Given the description of an element on the screen output the (x, y) to click on. 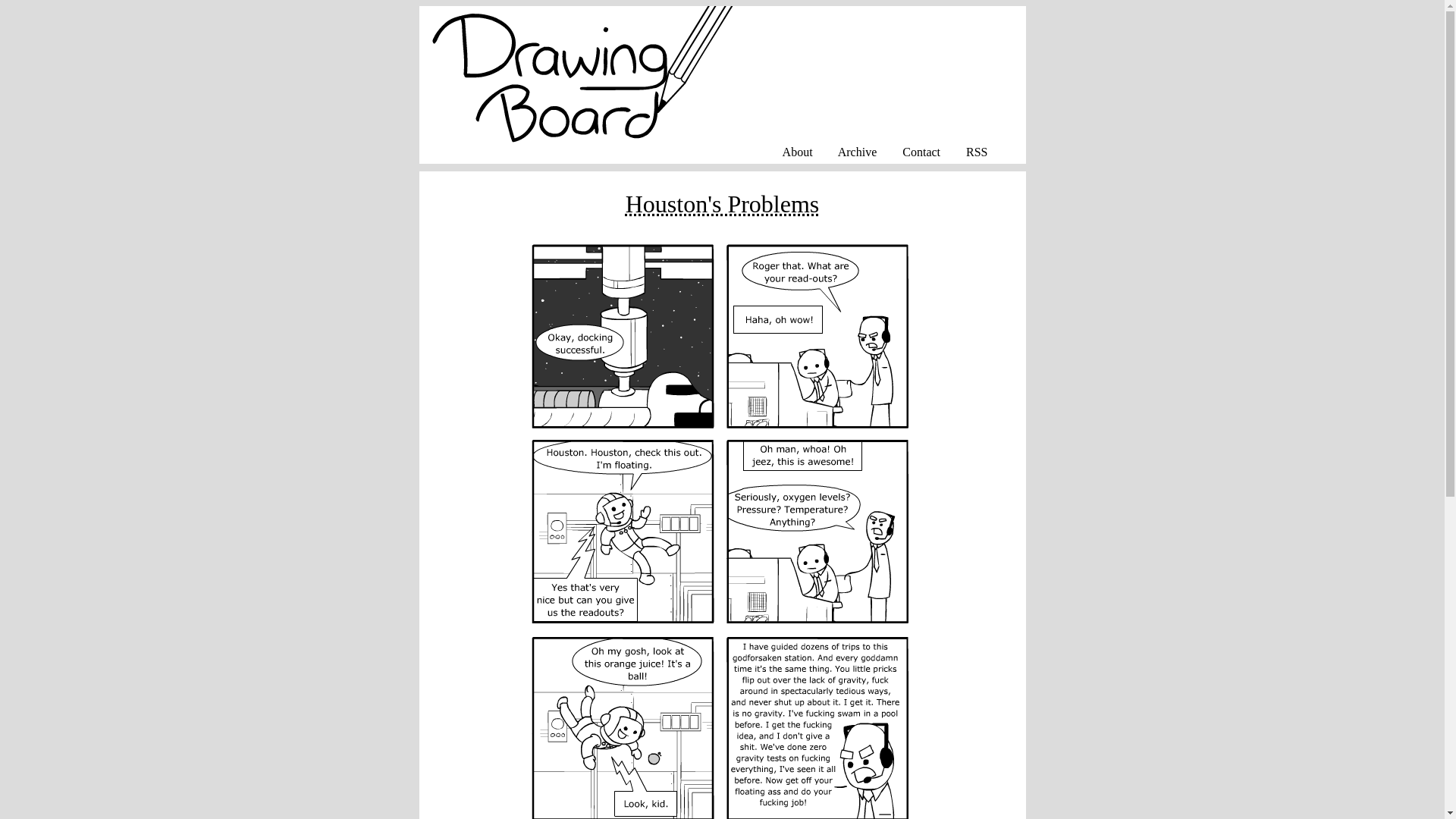
RSS (976, 151)
About (797, 151)
Sir Suffers Spastic Spaceman (722, 203)
Contact (921, 151)
Archive (857, 151)
